Given the description of an element on the screen output the (x, y) to click on. 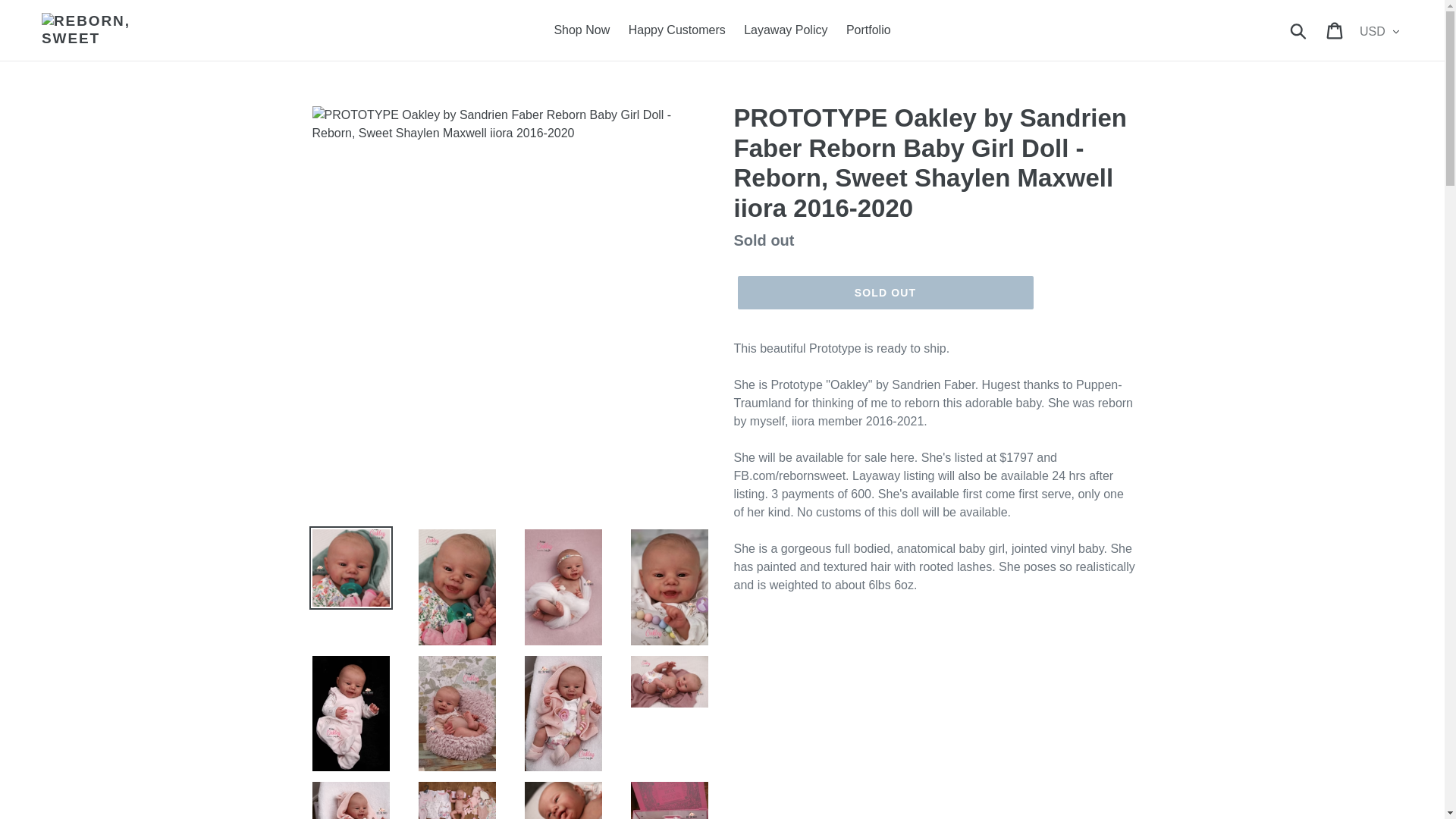
Portfolio (868, 29)
Shop Now (581, 29)
Happy Customers (677, 29)
Layaway Policy (785, 29)
Cart (1335, 29)
Submit (1299, 29)
